Given the description of an element on the screen output the (x, y) to click on. 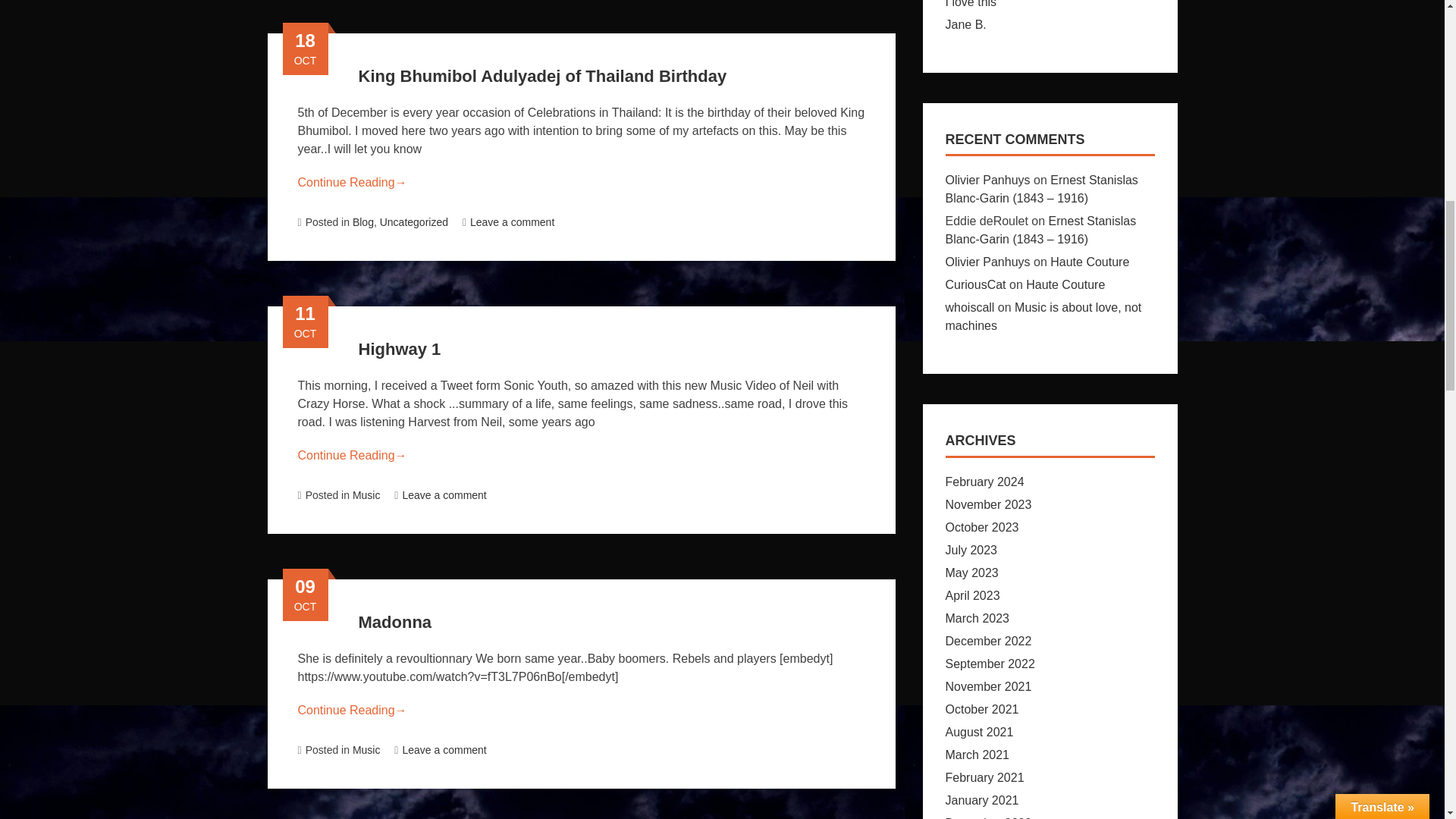
Leave a comment (508, 222)
Blog (363, 222)
King Bhumibol Adulyadej of Thailand Birthday (542, 75)
Highway 1 (399, 348)
Uncategorized (414, 222)
